Given the description of an element on the screen output the (x, y) to click on. 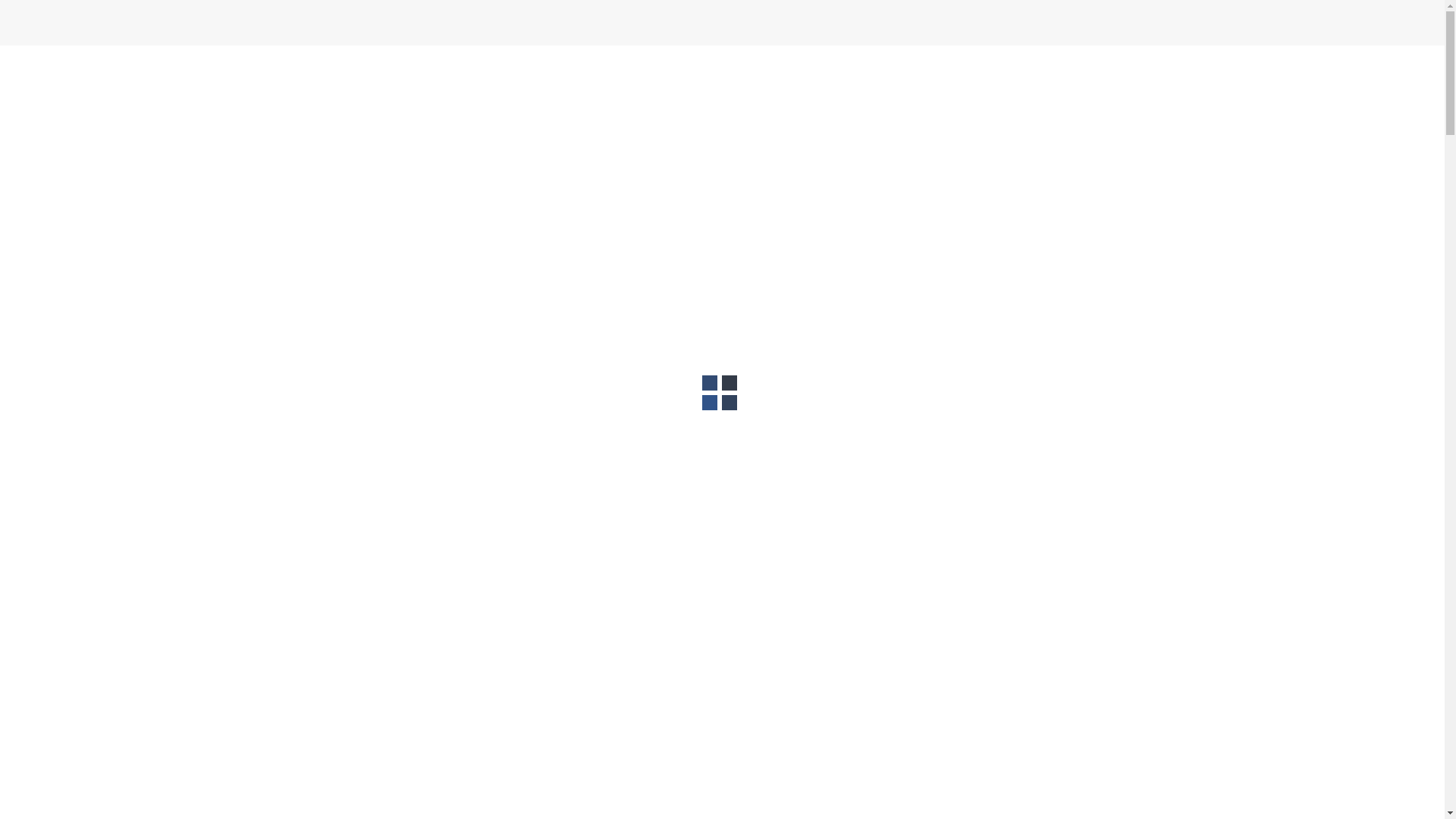
ABOUT US (779, 86)
HOME (722, 86)
NEWSLETTER (1111, 86)
Share on Facebook (917, 408)
RebeccaG (433, 620)
Check out our instagram feed (972, 271)
Search (44, 20)
Greystones Tidy Towns (378, 86)
Share on Twitter (944, 408)
March 25, 2024 (355, 620)
